Given the description of an element on the screen output the (x, y) to click on. 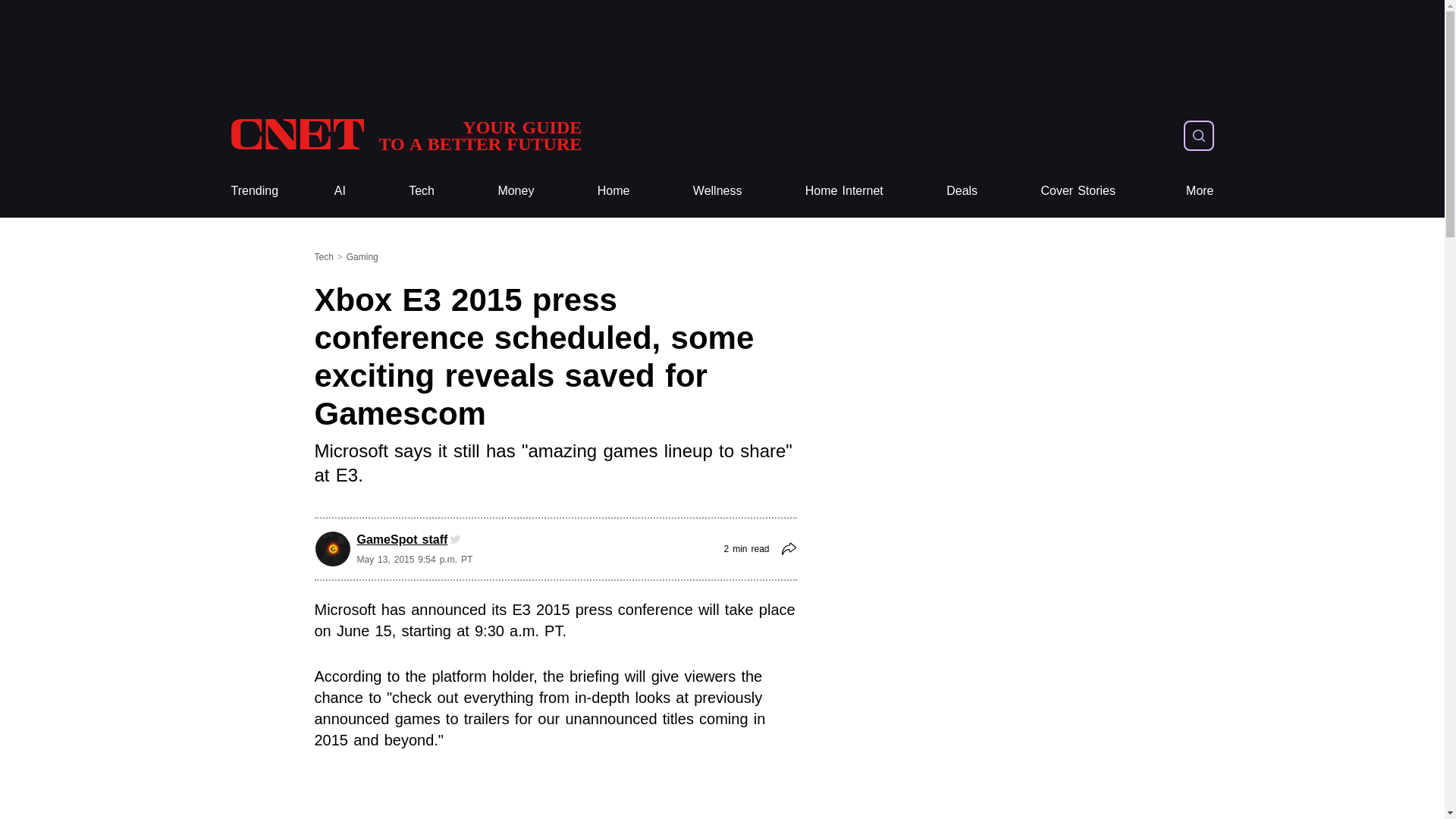
Money (515, 190)
Cover Stories (1078, 190)
Home Internet (844, 190)
Tech (421, 190)
Deals (961, 190)
More (1199, 190)
Money (515, 190)
Home (613, 190)
Home Internet (844, 190)
Home (613, 190)
